Given the description of an element on the screen output the (x, y) to click on. 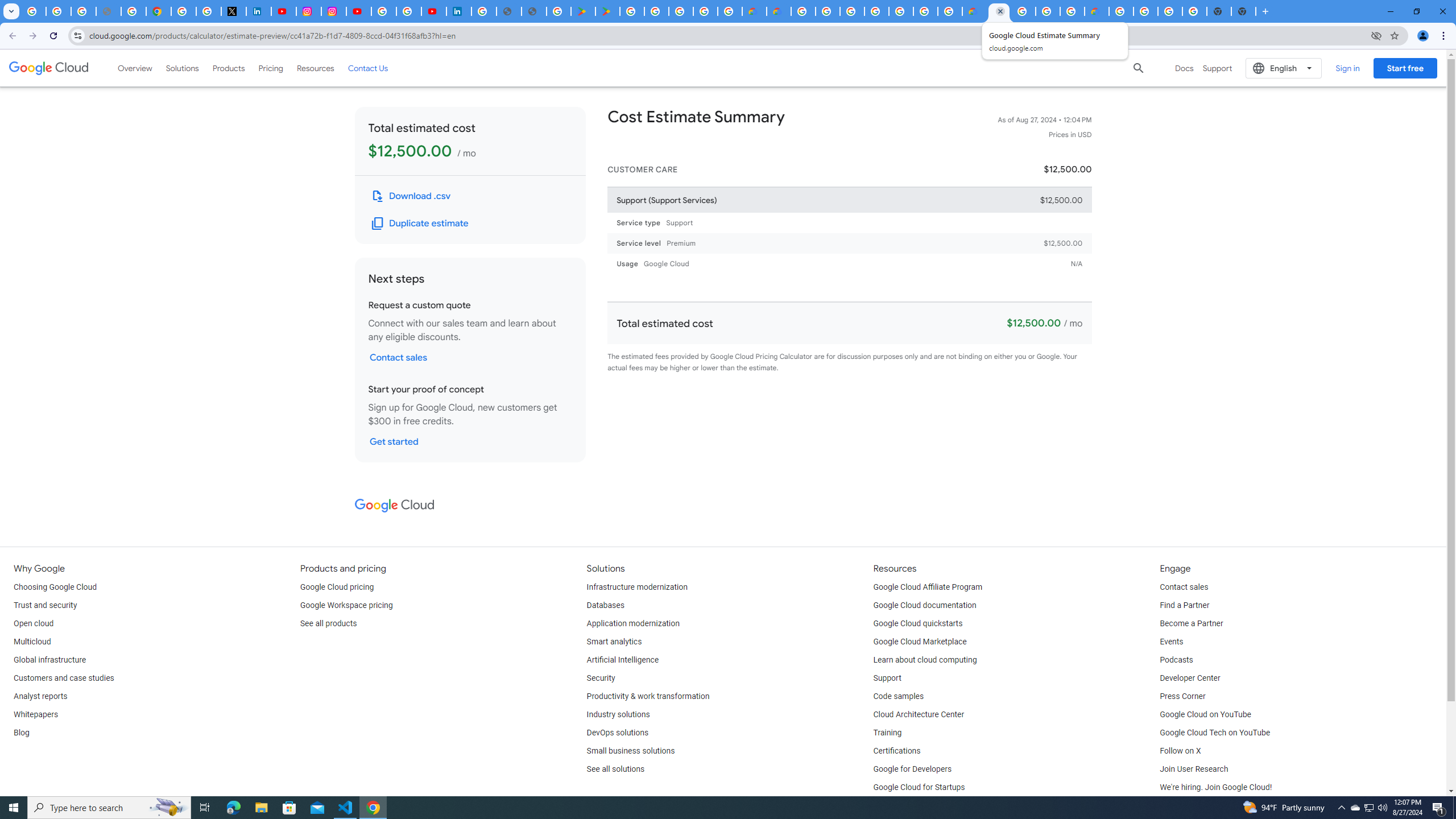
Start free (1405, 67)
Databases (605, 605)
Google Cloud Affiliate Program (927, 587)
Cloud Architecture Center (918, 714)
Press Corner (1181, 696)
Open cloud (33, 624)
See all products (327, 624)
Sign in - Google Accounts (182, 11)
support.google.com - Network error (108, 11)
